Given the description of an element on the screen output the (x, y) to click on. 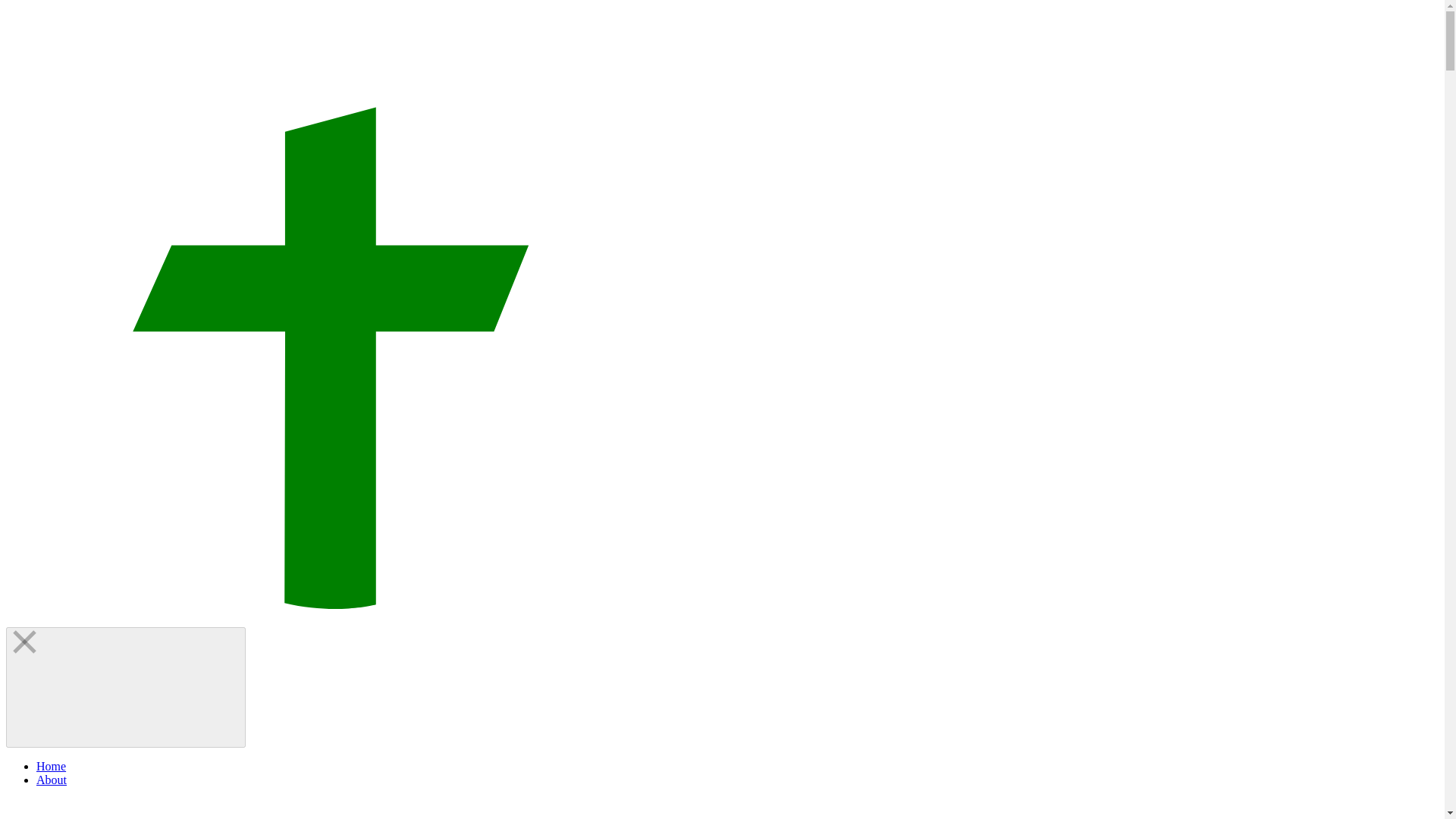
Home (50, 766)
